Given the description of an element on the screen output the (x, y) to click on. 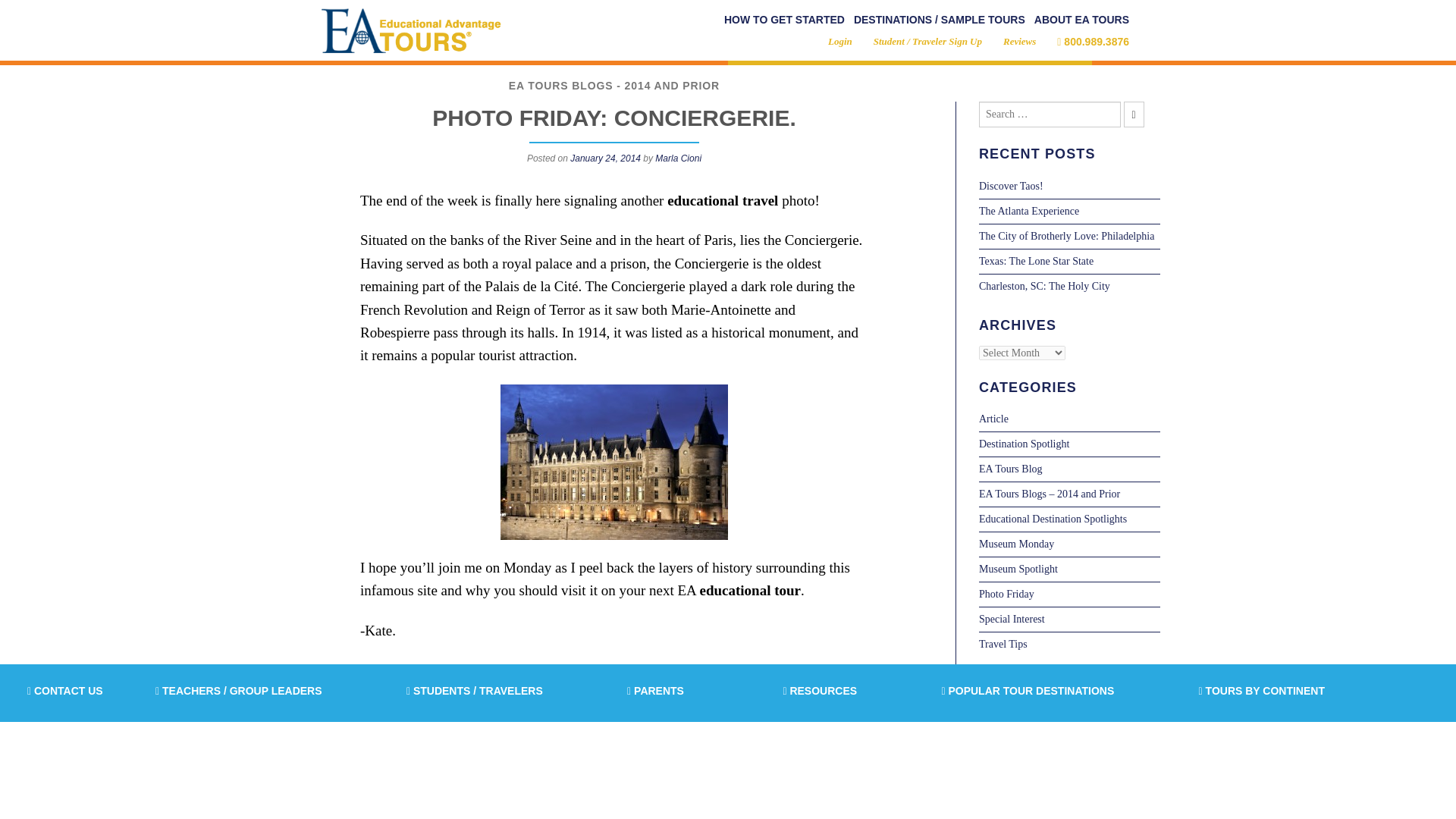
800.989.3876 (1093, 41)
ABOUT EA TOURS (1081, 19)
HOW TO GET STARTED (783, 19)
Login (839, 41)
About EA Tours (1081, 19)
Reviews (1019, 41)
Destinations (938, 19)
Get Started (783, 19)
